Given the description of an element on the screen output the (x, y) to click on. 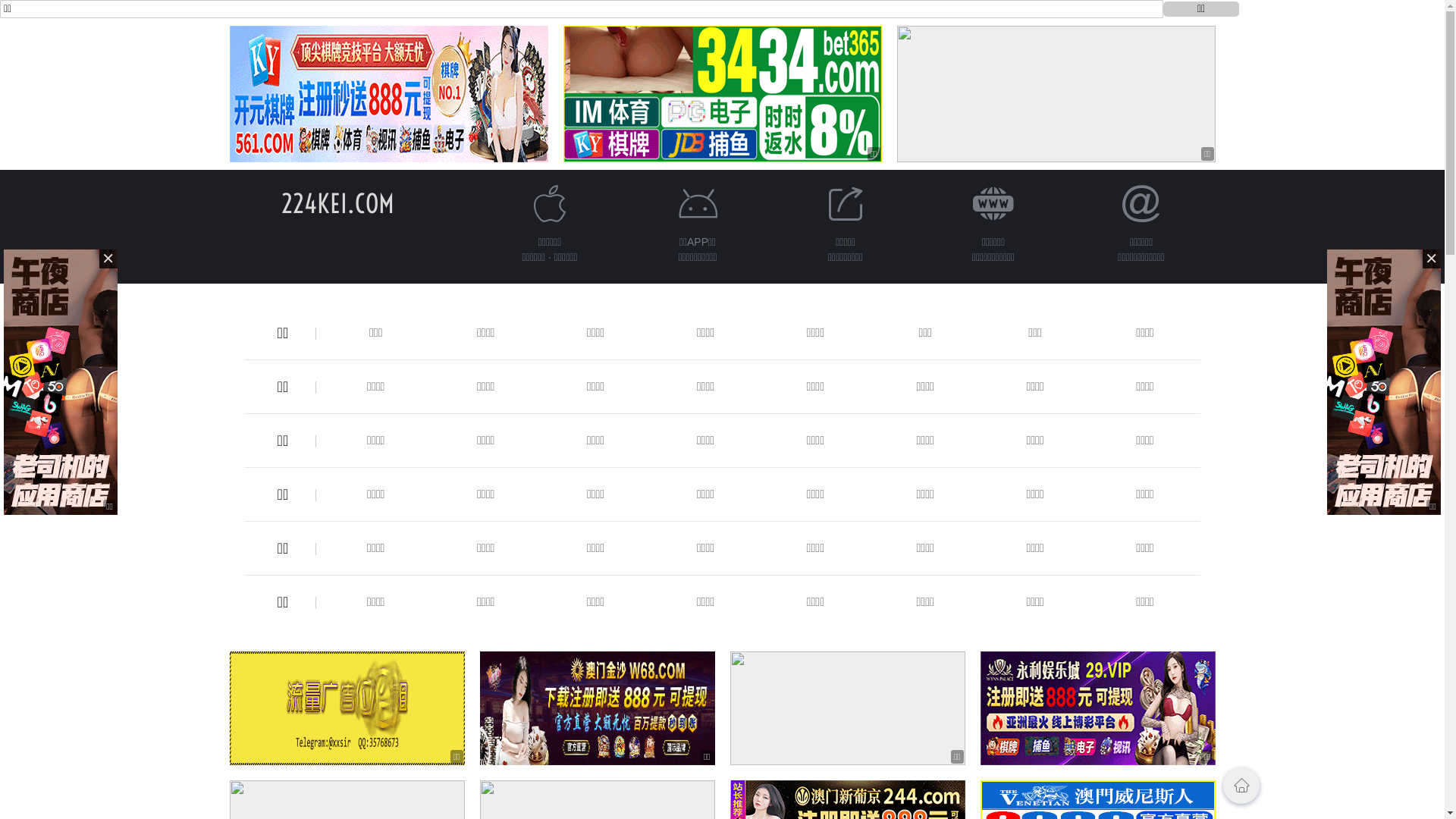
224KEI.COM Element type: text (337, 203)
